Given the description of an element on the screen output the (x, y) to click on. 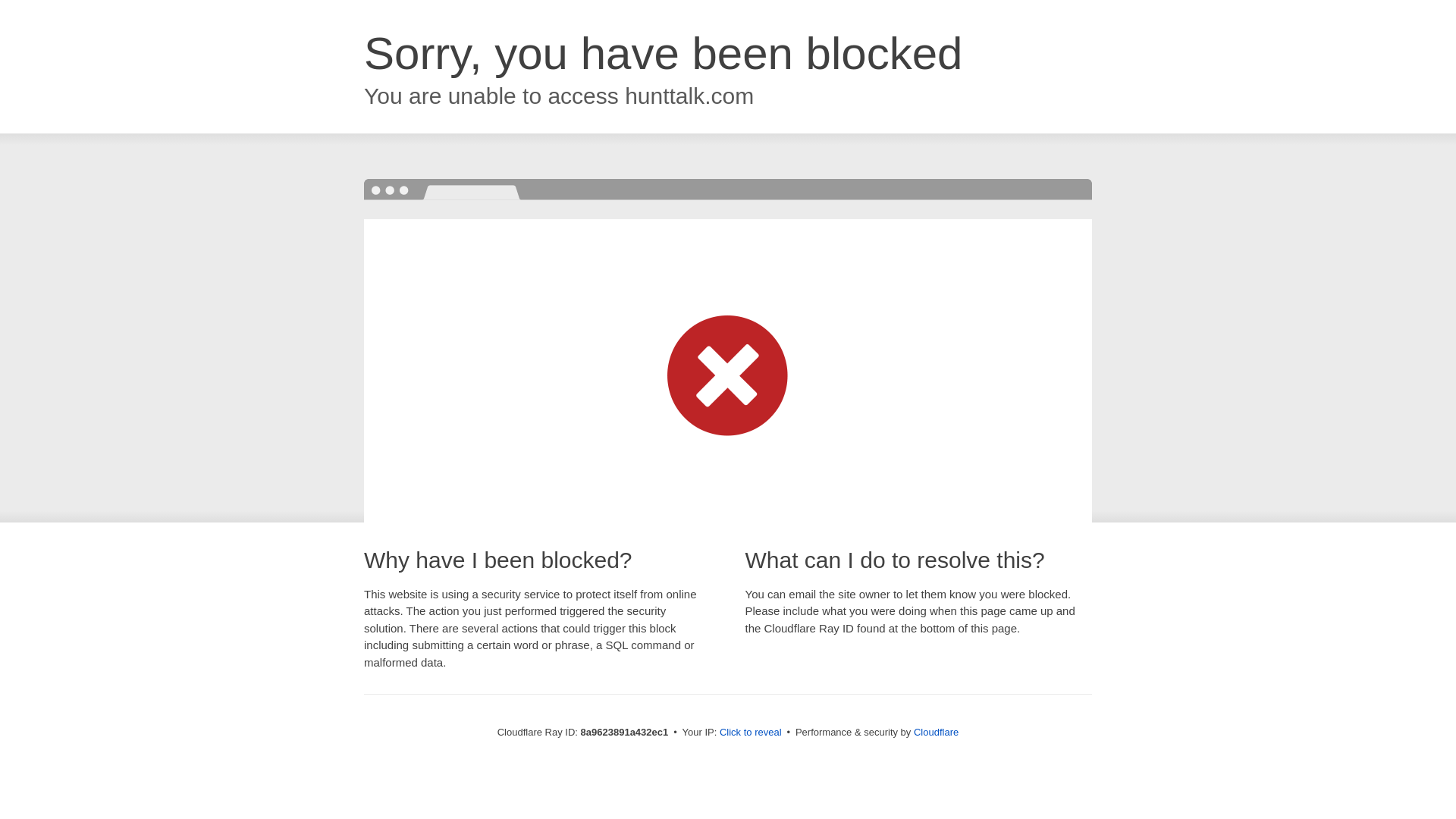
Click to reveal (750, 732)
Cloudflare (936, 731)
